Given the description of an element on the screen output the (x, y) to click on. 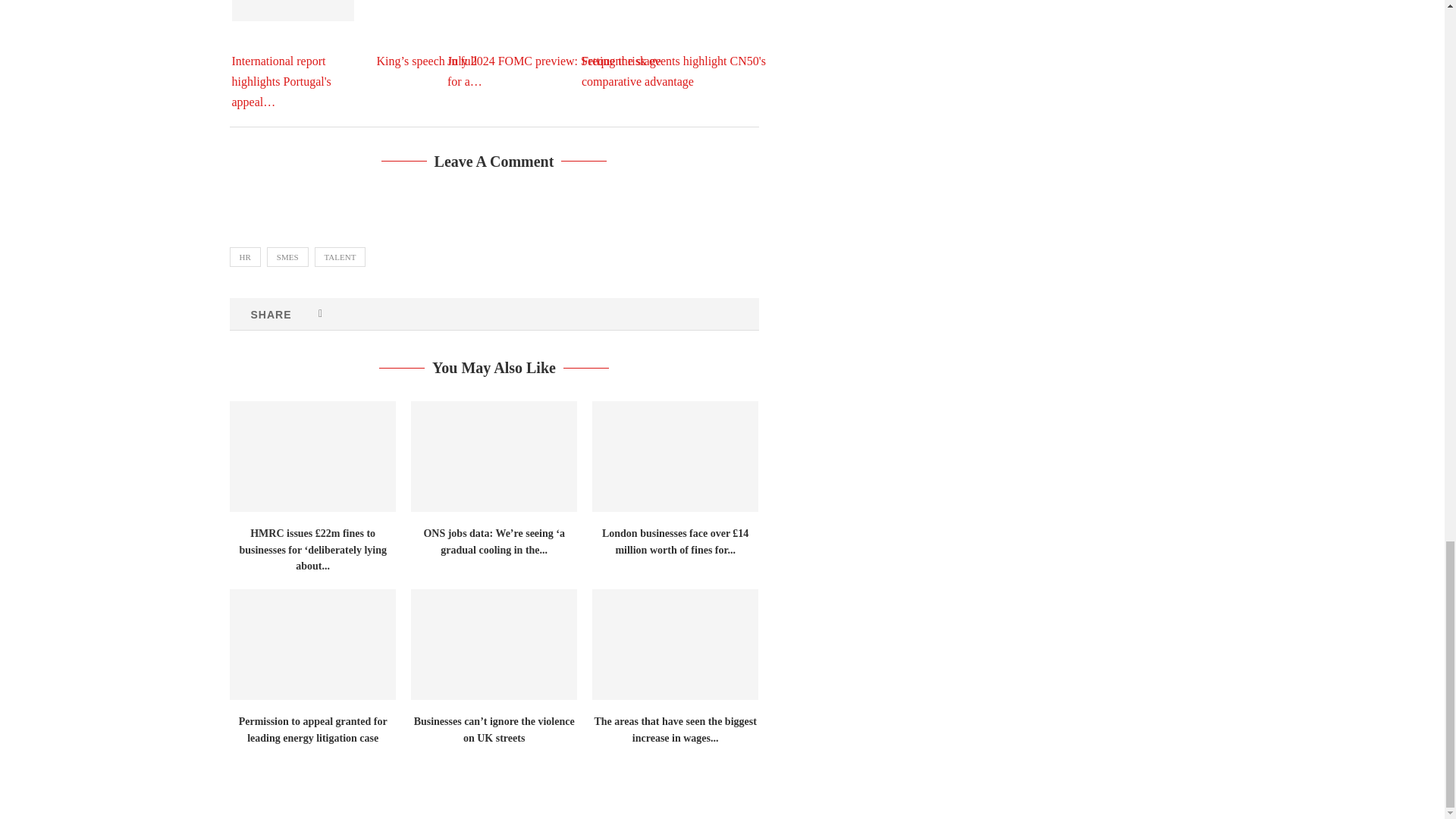
Frequent risk events highlight CN50's comparative advantage (694, 43)
